Given the description of an element on the screen output the (x, y) to click on. 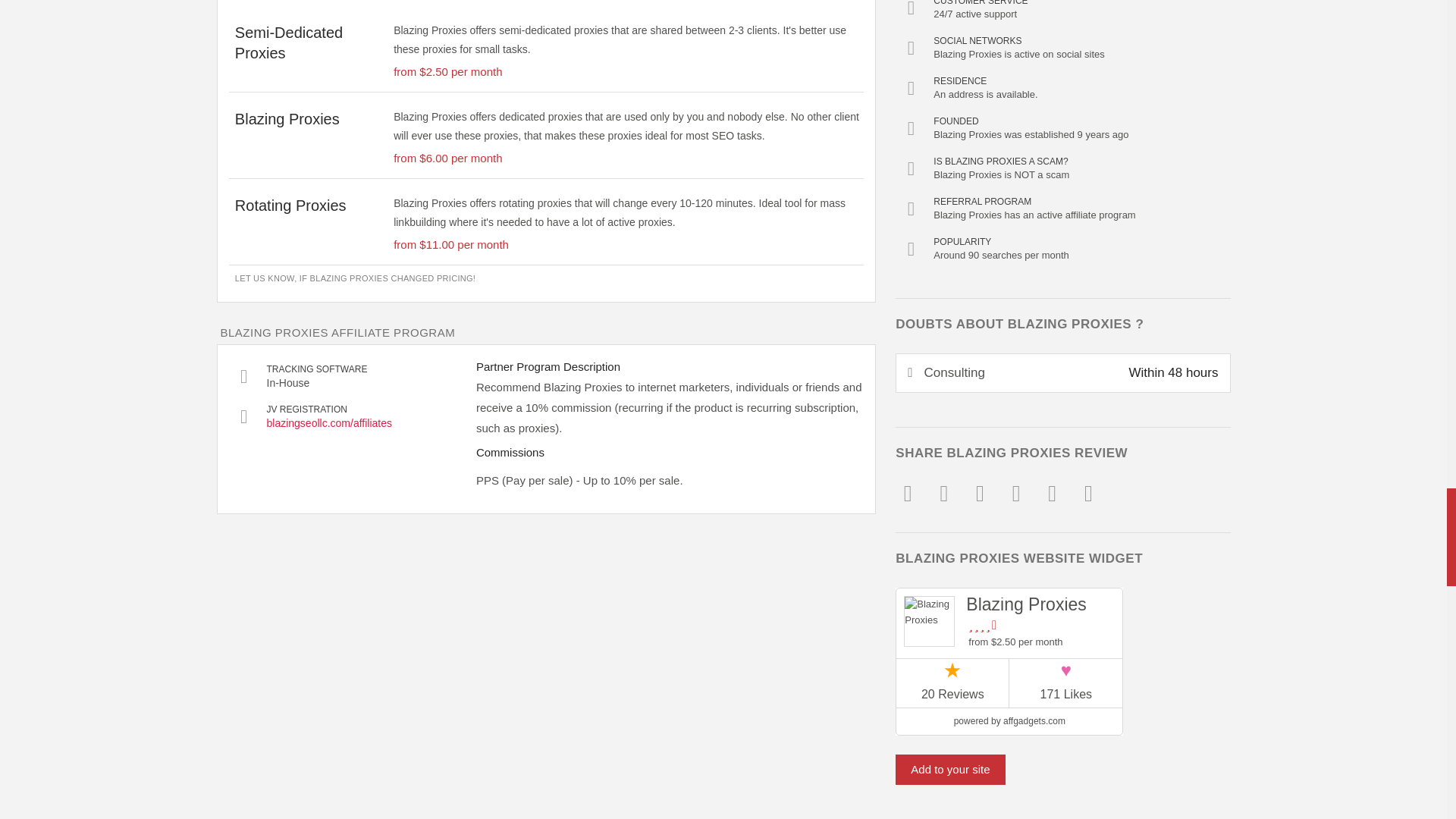
Blazing Proxies Affiliate Page (365, 423)
